Given the description of an element on the screen output the (x, y) to click on. 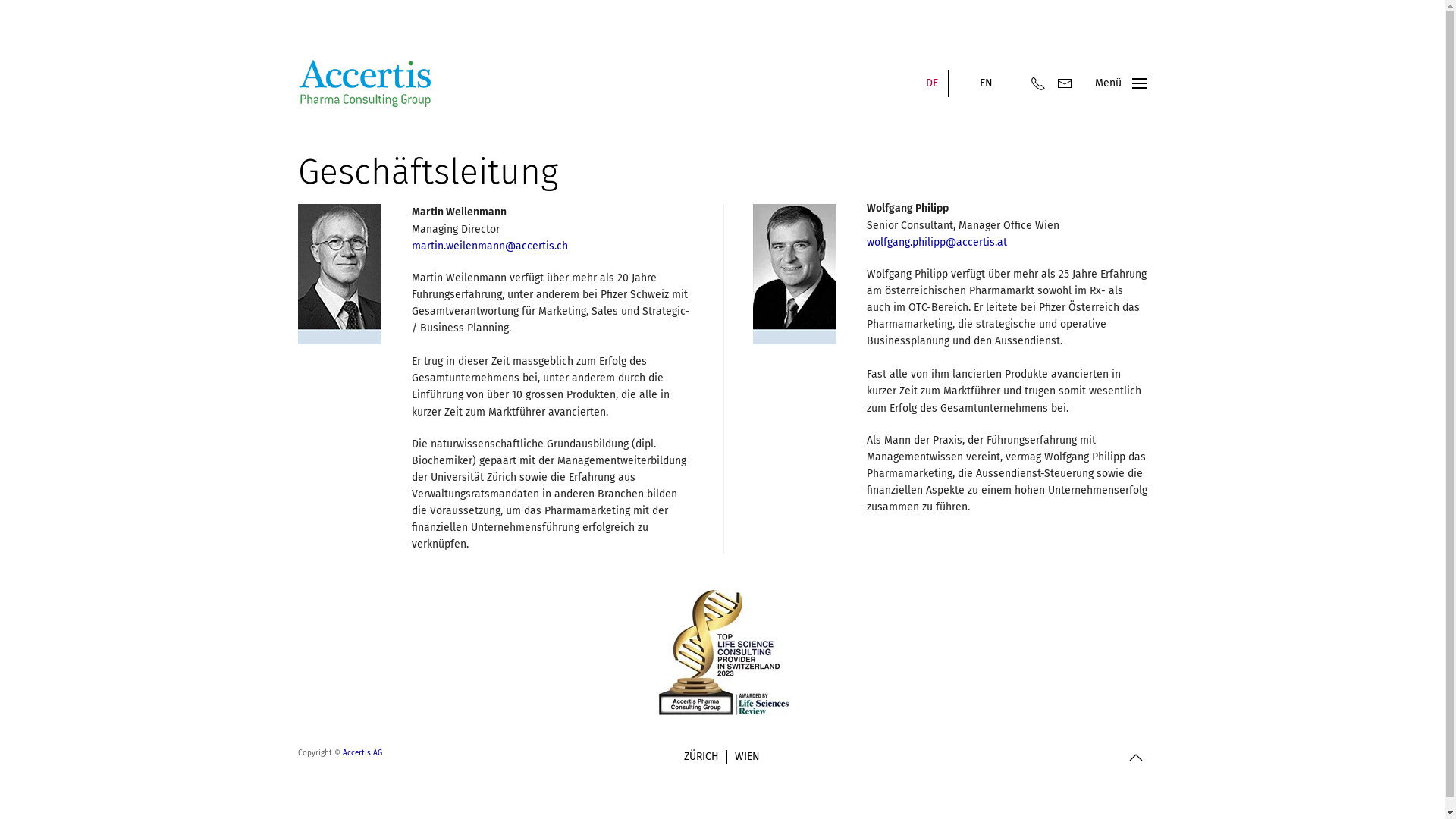
WIEN Element type: text (746, 756)
DE Element type: text (931, 83)
Accertis AG Element type: text (362, 752)
martin.weilenmann@accertis.ch Element type: text (489, 245)
wolfgang.philipp@accertis.at Element type: text (936, 241)
EN Element type: text (985, 83)
